Given the description of an element on the screen output the (x, y) to click on. 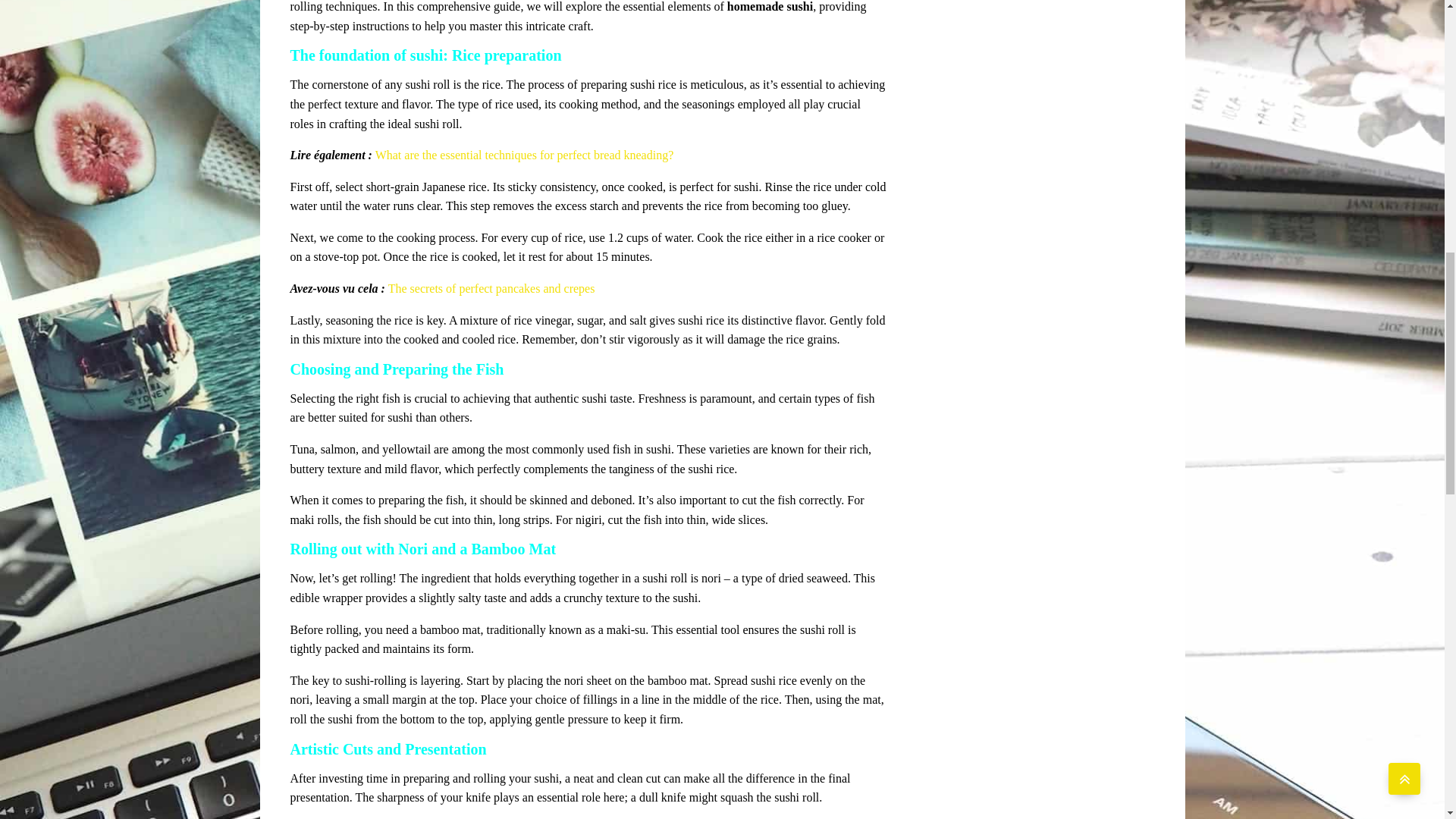
The secrets of perfect pancakes and crepes (491, 287)
The secrets of perfect pancakes and crepes (491, 287)
